Given the description of an element on the screen output the (x, y) to click on. 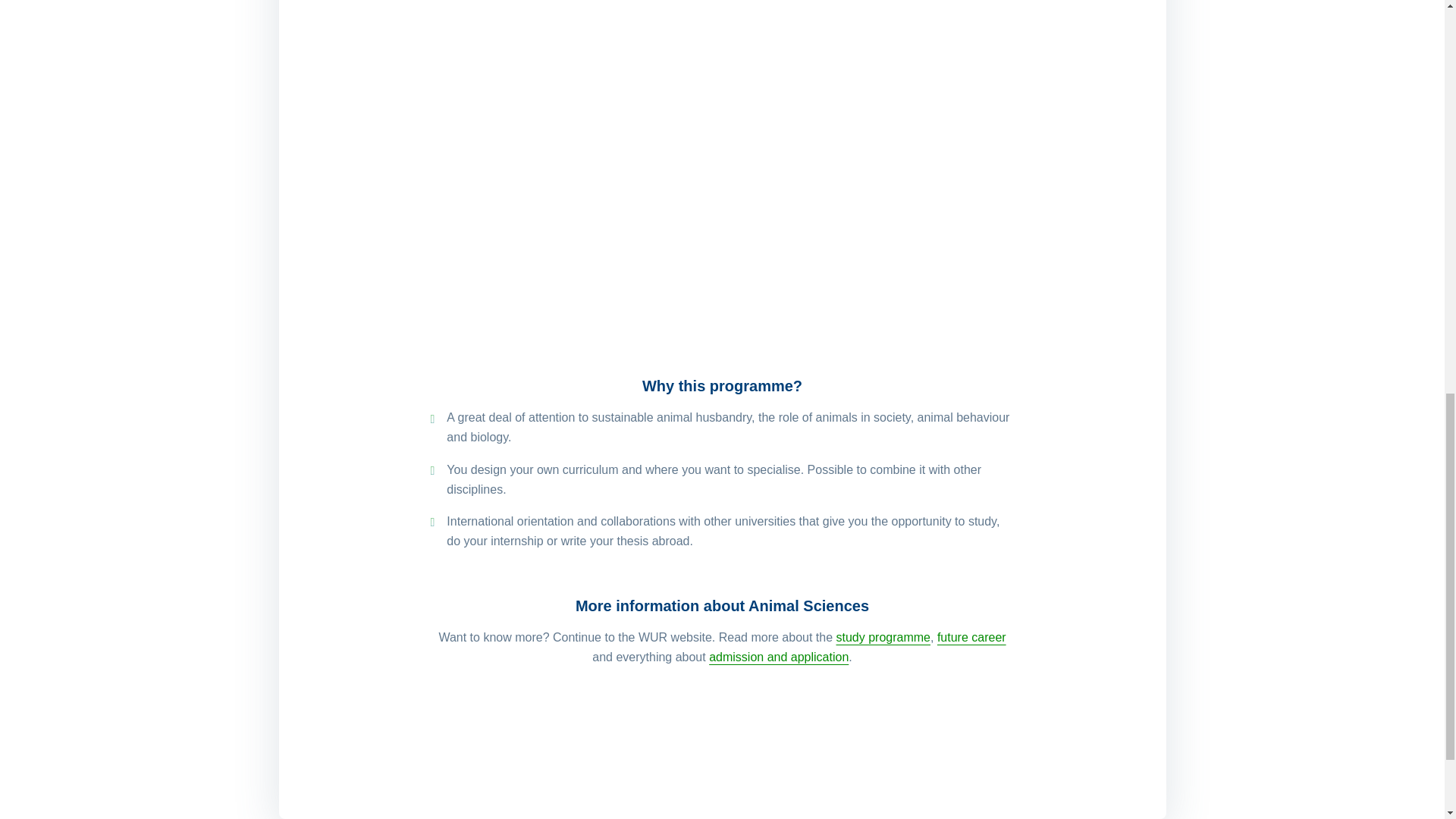
admission and application (778, 656)
future career (971, 636)
study programme (882, 636)
